Given the description of an element on the screen output the (x, y) to click on. 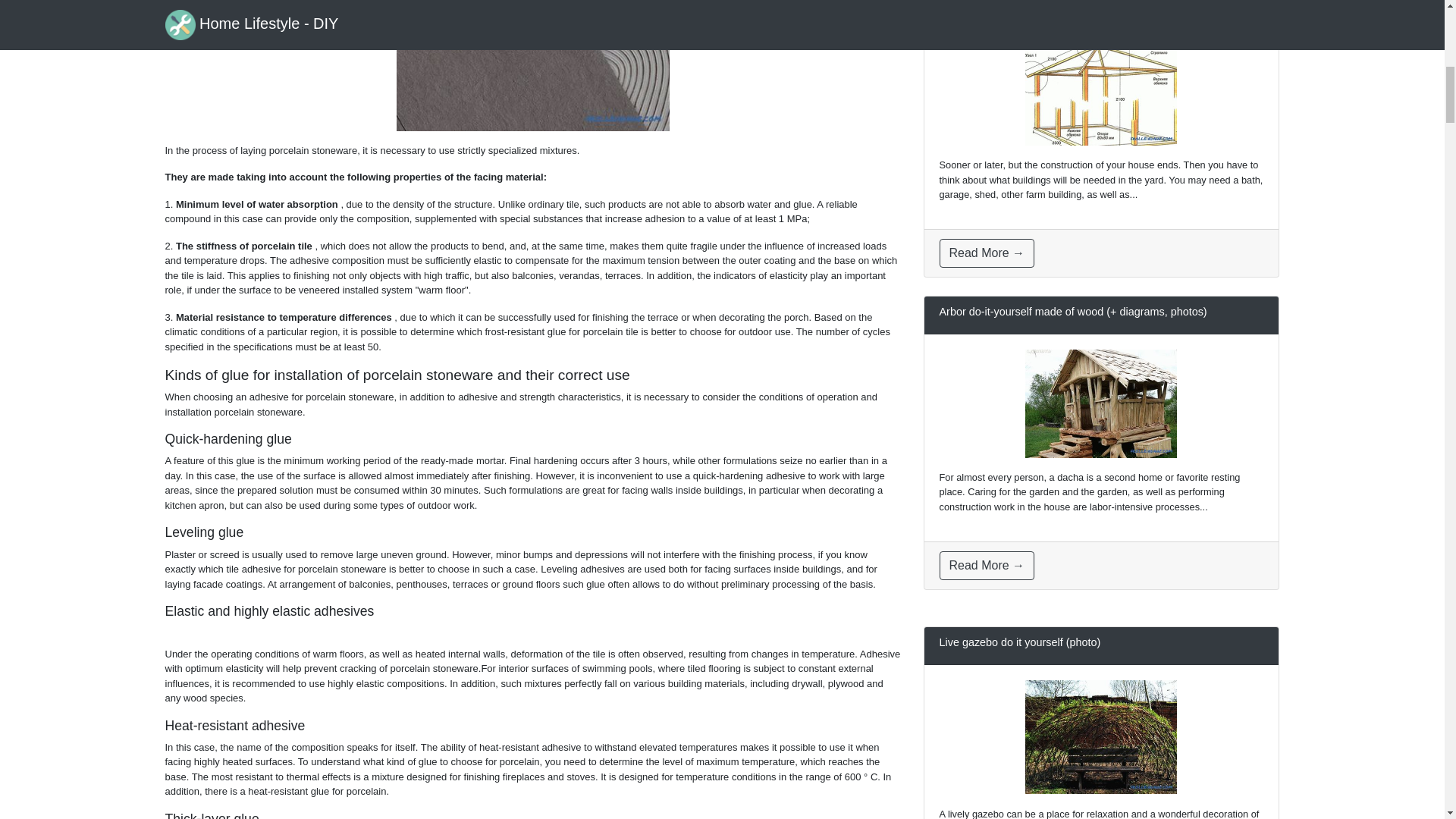
Glue for porcelain tiles - which one is better to choose (532, 65)
